Given the description of an element on the screen output the (x, y) to click on. 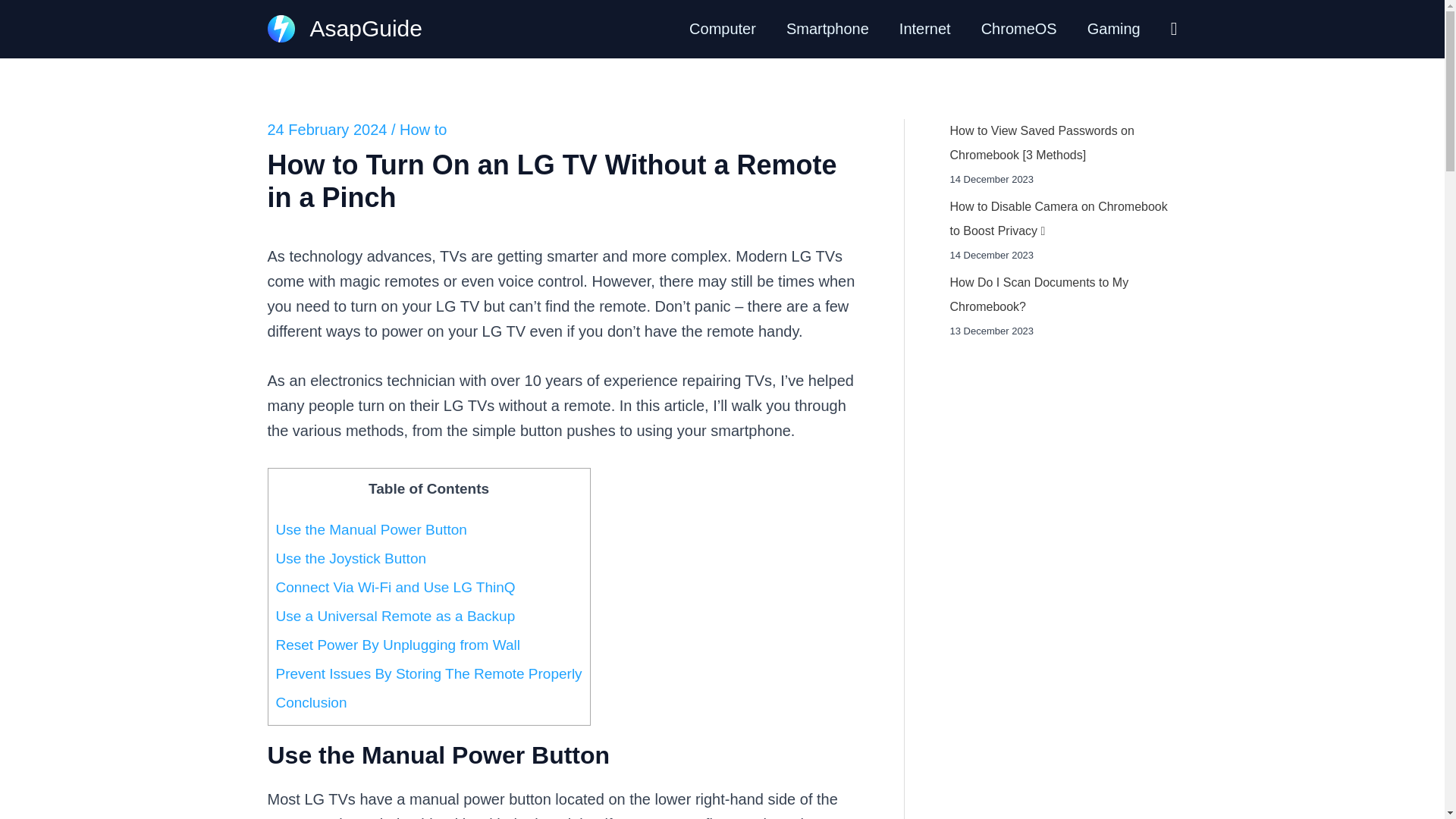
Prevent Issues By Storing The Remote Properly (429, 673)
ChromeOS (1018, 28)
How Do I Scan Documents to My Chromebook? (1038, 294)
Use the Joystick Button (351, 558)
Connect Via Wi-Fi and Use LG ThinQ (395, 587)
Use a Universal Remote as a Backup (395, 616)
How to (422, 129)
AsapGuide (365, 27)
Computer (722, 28)
Gaming (1113, 28)
Reset Power By Unplugging from Wall (397, 644)
Smartphone (827, 28)
Use the Manual Power Button (371, 529)
Internet (924, 28)
Conclusion (311, 702)
